Given the description of an element on the screen output the (x, y) to click on. 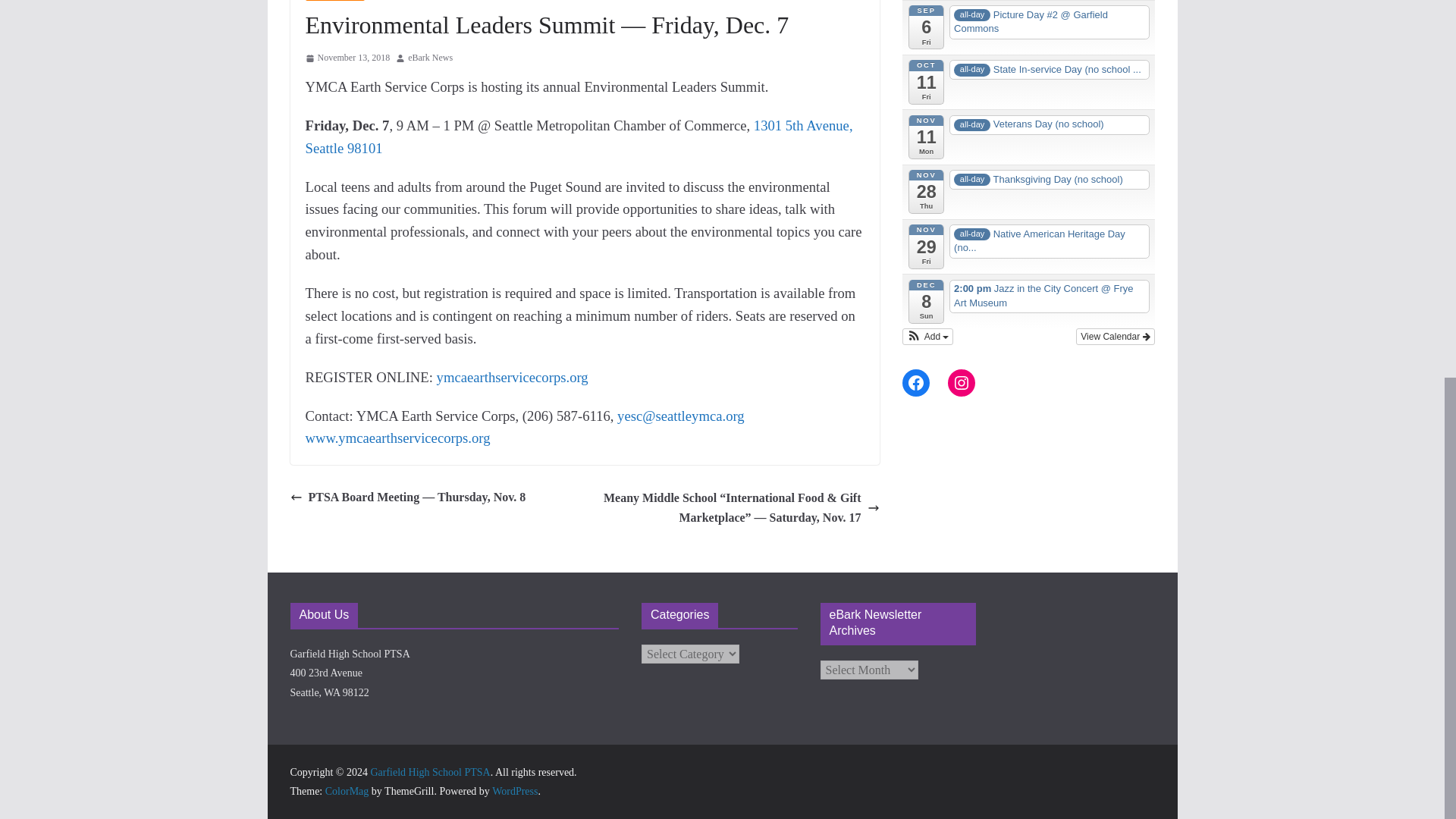
5:01 pm (347, 57)
eBark News (429, 57)
